Given the description of an element on the screen output the (x, y) to click on. 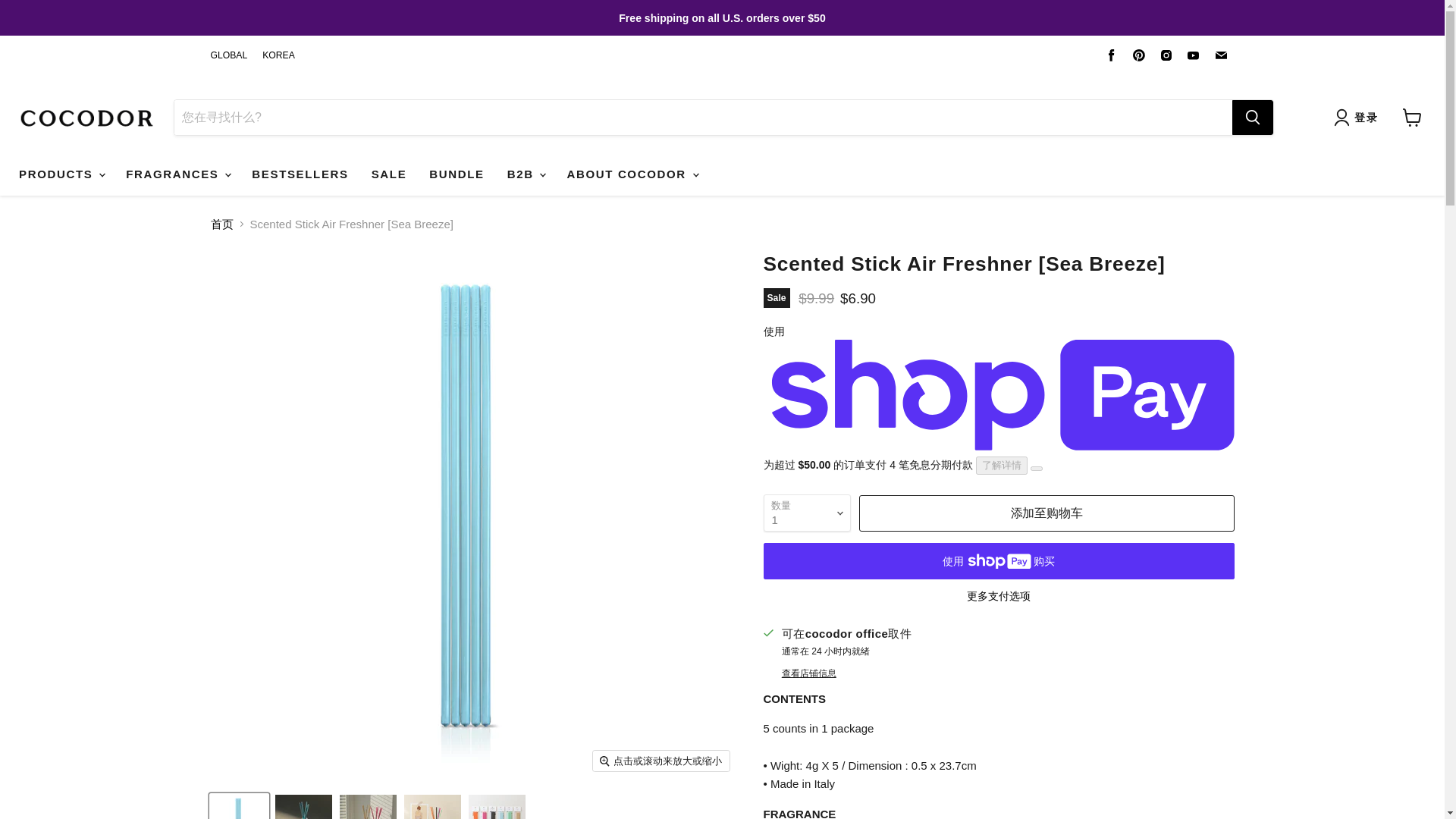
Youtube (1193, 55)
KOREA (278, 55)
Pinterest (1139, 55)
Instagram (1166, 55)
Facebook (1111, 55)
GLOBAL (229, 55)
